Given the description of an element on the screen output the (x, y) to click on. 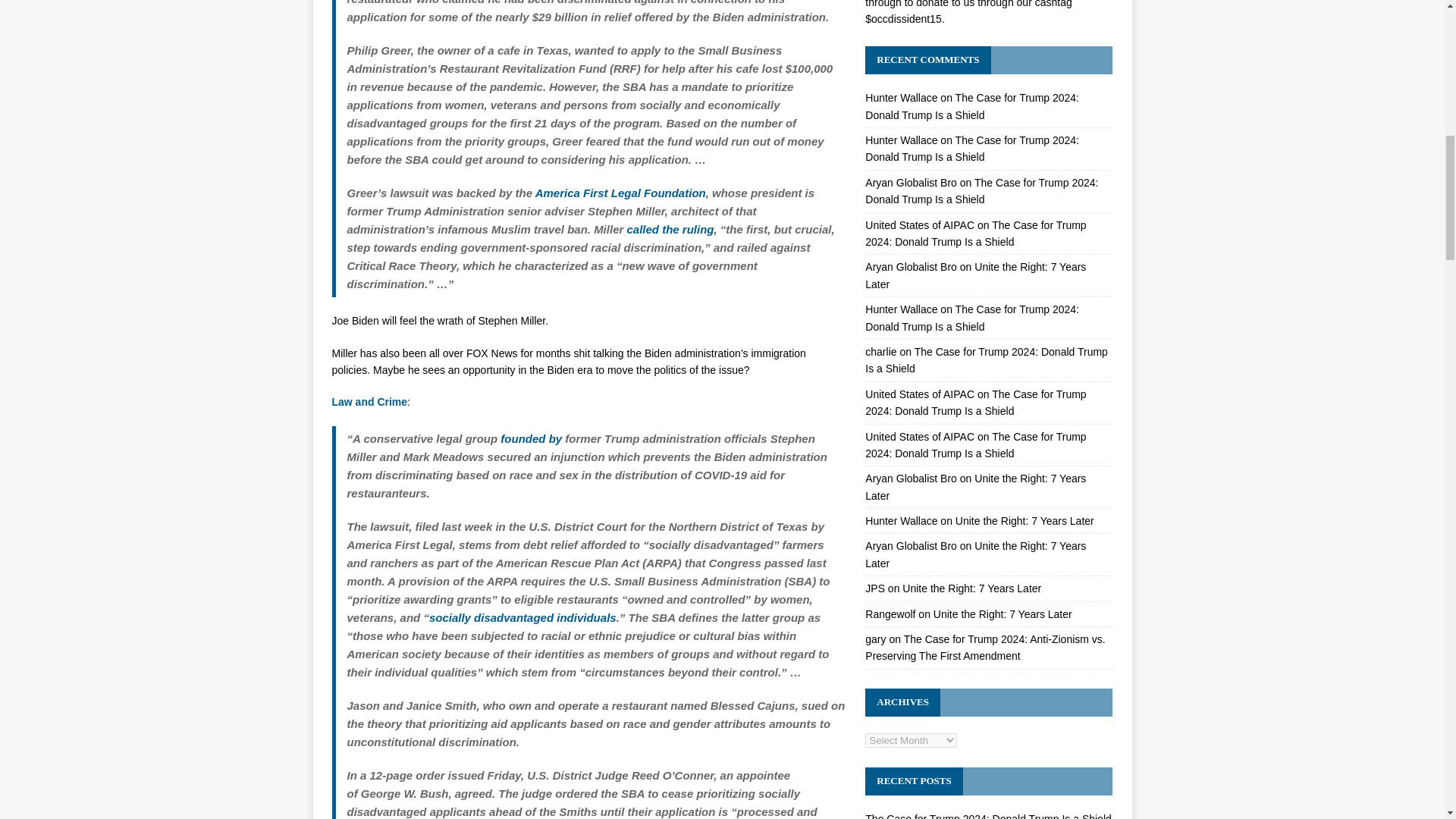
socially disadvantaged individuals (522, 617)
America First Legal Foundation (620, 192)
called the ruling (669, 228)
Law and Crime (369, 401)
founded by (531, 438)
